Given the description of an element on the screen output the (x, y) to click on. 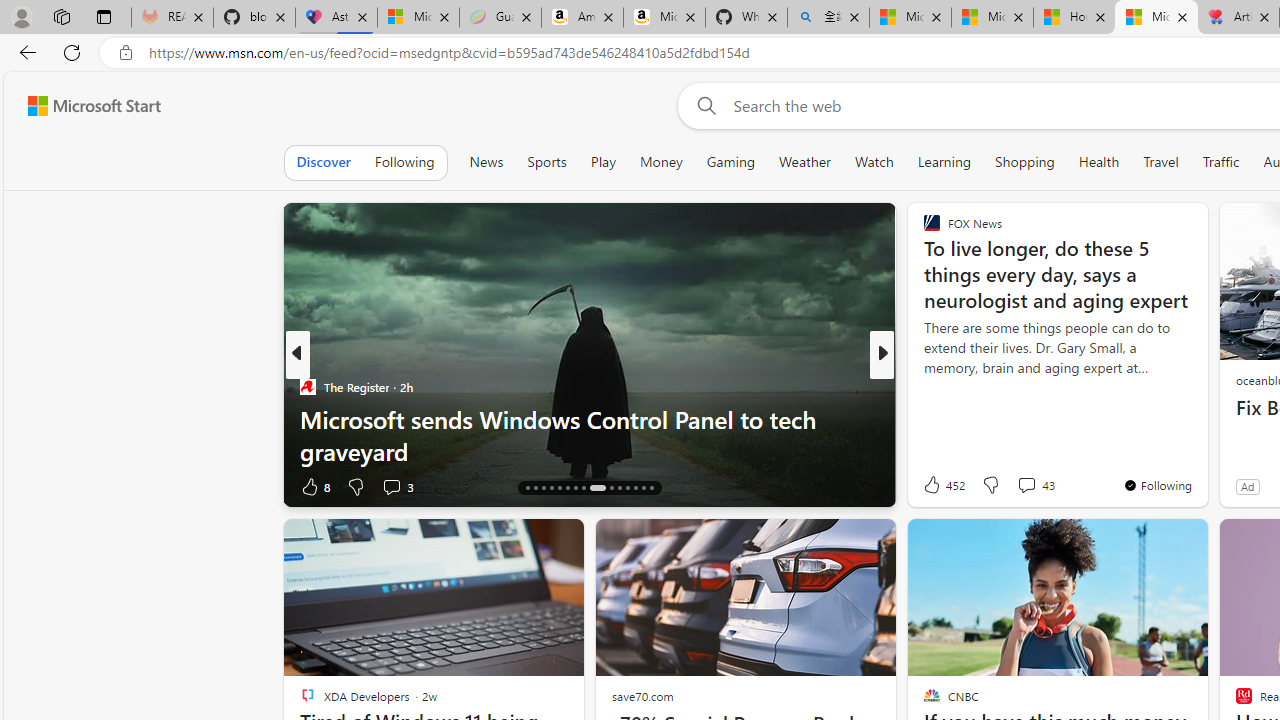
AutomationID: tab-24 (597, 487)
Sports (546, 162)
Savvy Dime (923, 386)
Moneywise (923, 386)
Traffic (1220, 162)
View comments 67 Comment (1029, 486)
View comments 3 Comment (391, 485)
Play (602, 161)
